Given the description of an element on the screen output the (x, y) to click on. 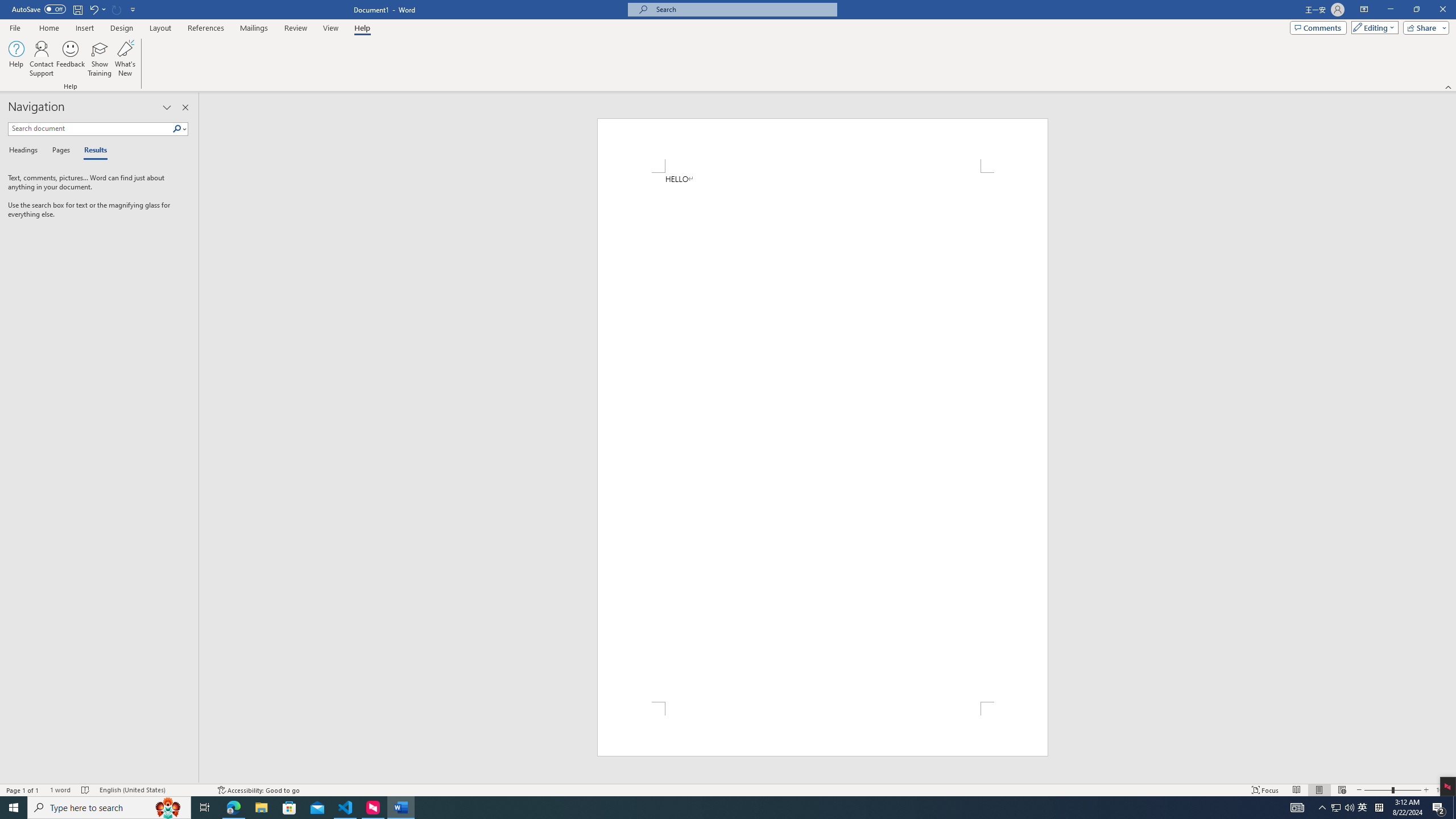
Undo Typing (92, 9)
Search (177, 128)
Contact Support... (42, 58)
Accessibility Checker Accessibility: Good to go (258, 790)
Review (295, 28)
Quick Access Toolbar (74, 9)
Restore Down (1416, 9)
Home (48, 28)
Close pane (185, 107)
Undo Typing (96, 9)
Focus  (1265, 790)
Headings (25, 150)
Feedback (70, 58)
View (330, 28)
